Given the description of an element on the screen output the (x, y) to click on. 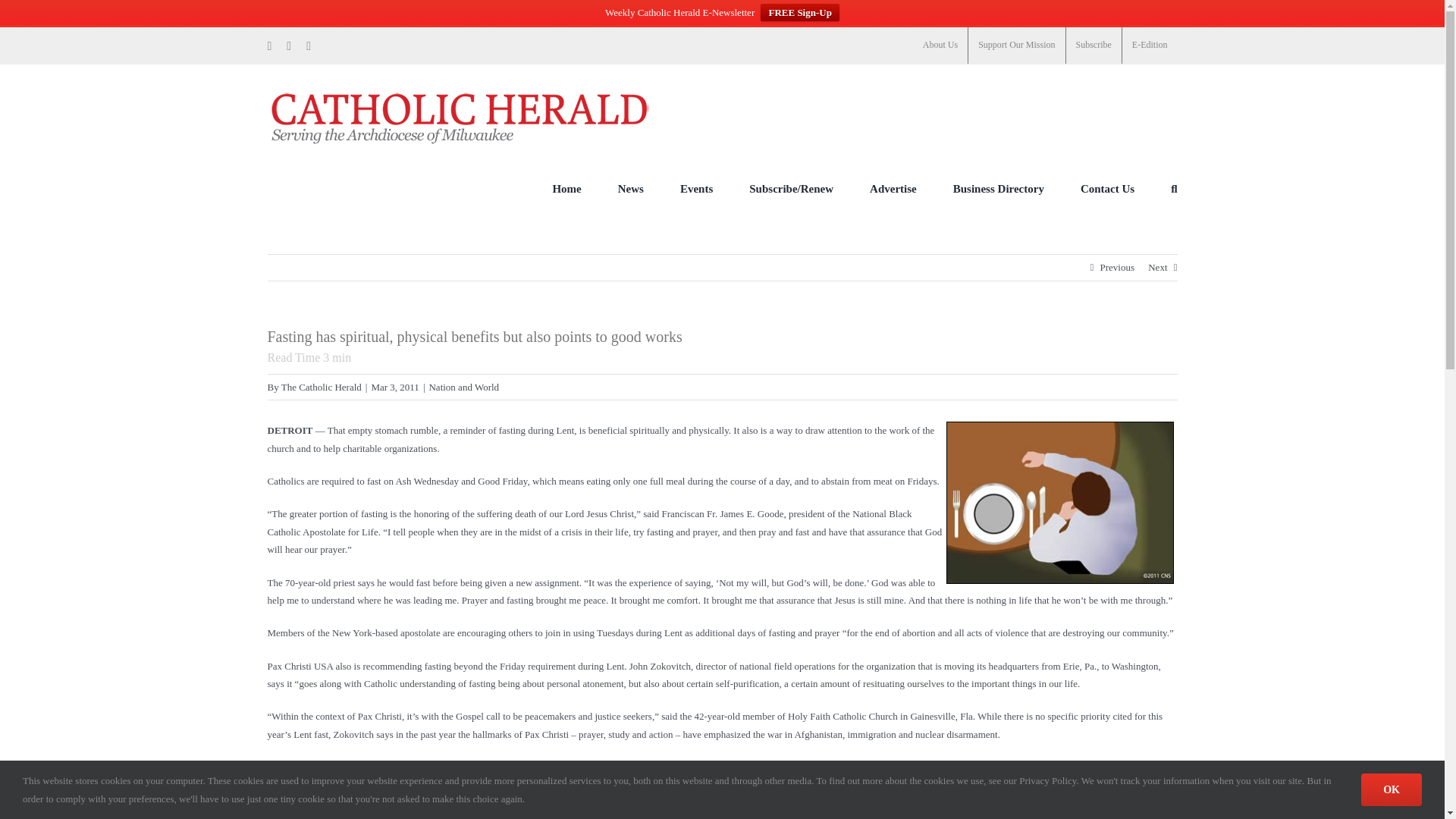
FREE Sign-Up (799, 12)
Posts by The Catholic Herald (321, 387)
Contact Us (1107, 188)
Advertise (893, 188)
Business Directory (998, 188)
Subscribe (1093, 45)
E-Edition (1149, 45)
About Us (940, 45)
Support Our Mission (1016, 45)
